Given the description of an element on the screen output the (x, y) to click on. 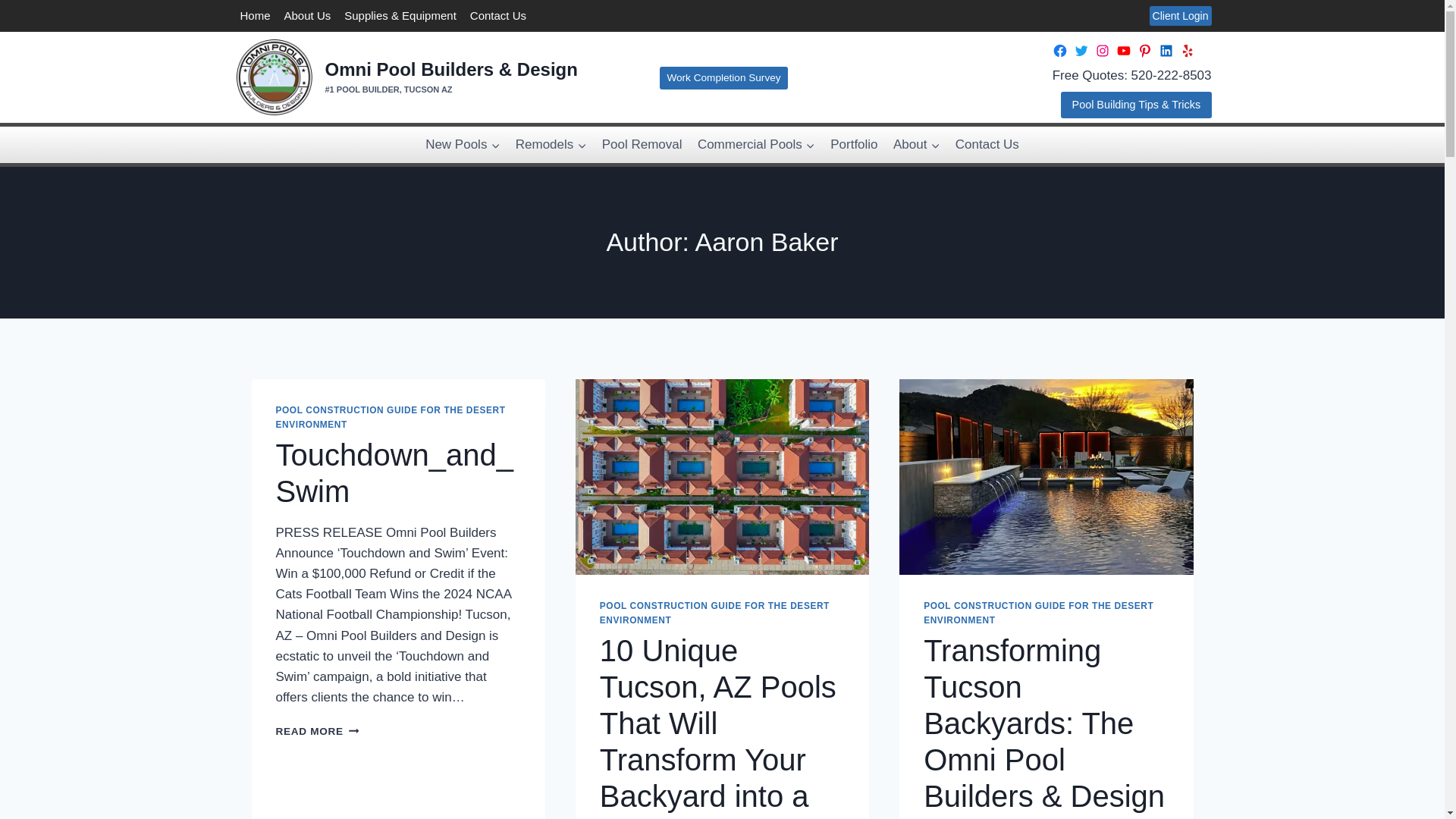
U Cevv Srovu Lhd S V32dy J0yg (1123, 50)
About Us (307, 15)
Facebook (1059, 50)
Contact Omni Pool Builders (497, 15)
LinkedIn (1165, 50)
Omnipools (1101, 50)
New Pools (462, 144)
Pinterest (1145, 50)
Omni Pool Builders And Design (1165, 50)
Client Login (1180, 15)
Pool Removal (642, 144)
Home (255, 15)
Omnipoolbuilder (1145, 50)
Instagram (1101, 50)
